Given the description of an element on the screen output the (x, y) to click on. 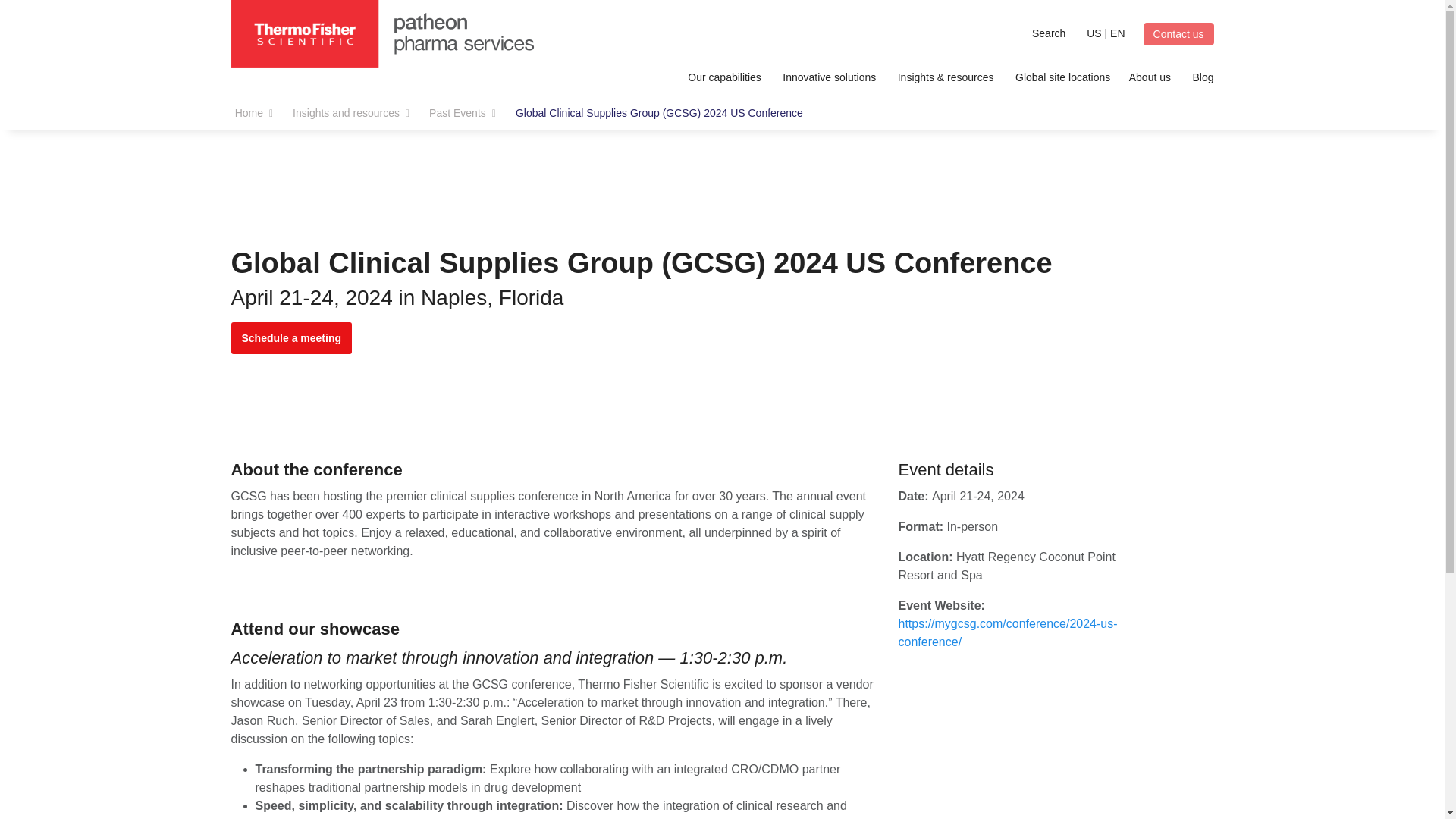
visit thermofisher.com (1156, 19)
